Given the description of an element on the screen output the (x, y) to click on. 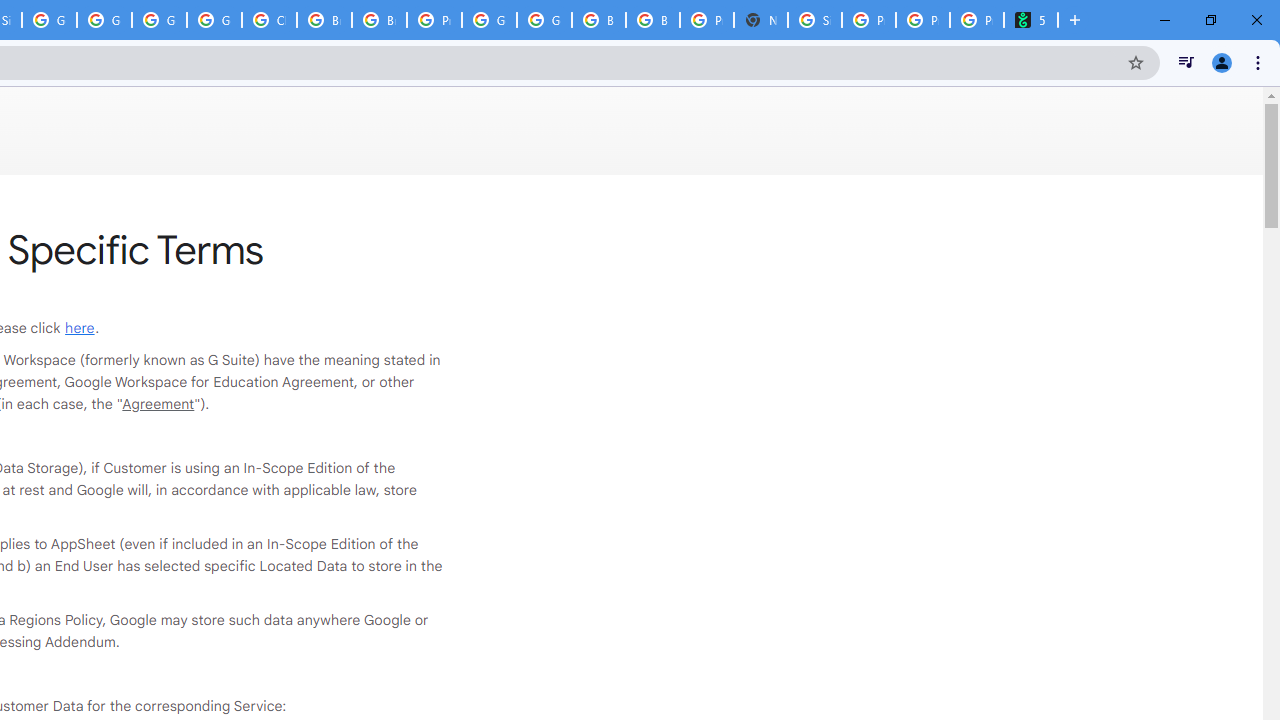
Google Cloud Platform (158, 20)
Browse Chrome as a guest - Computer - Google Chrome Help (598, 20)
Google Cloud Platform (489, 20)
here (79, 327)
Sign in - Google Accounts (815, 20)
